Given the description of an element on the screen output the (x, y) to click on. 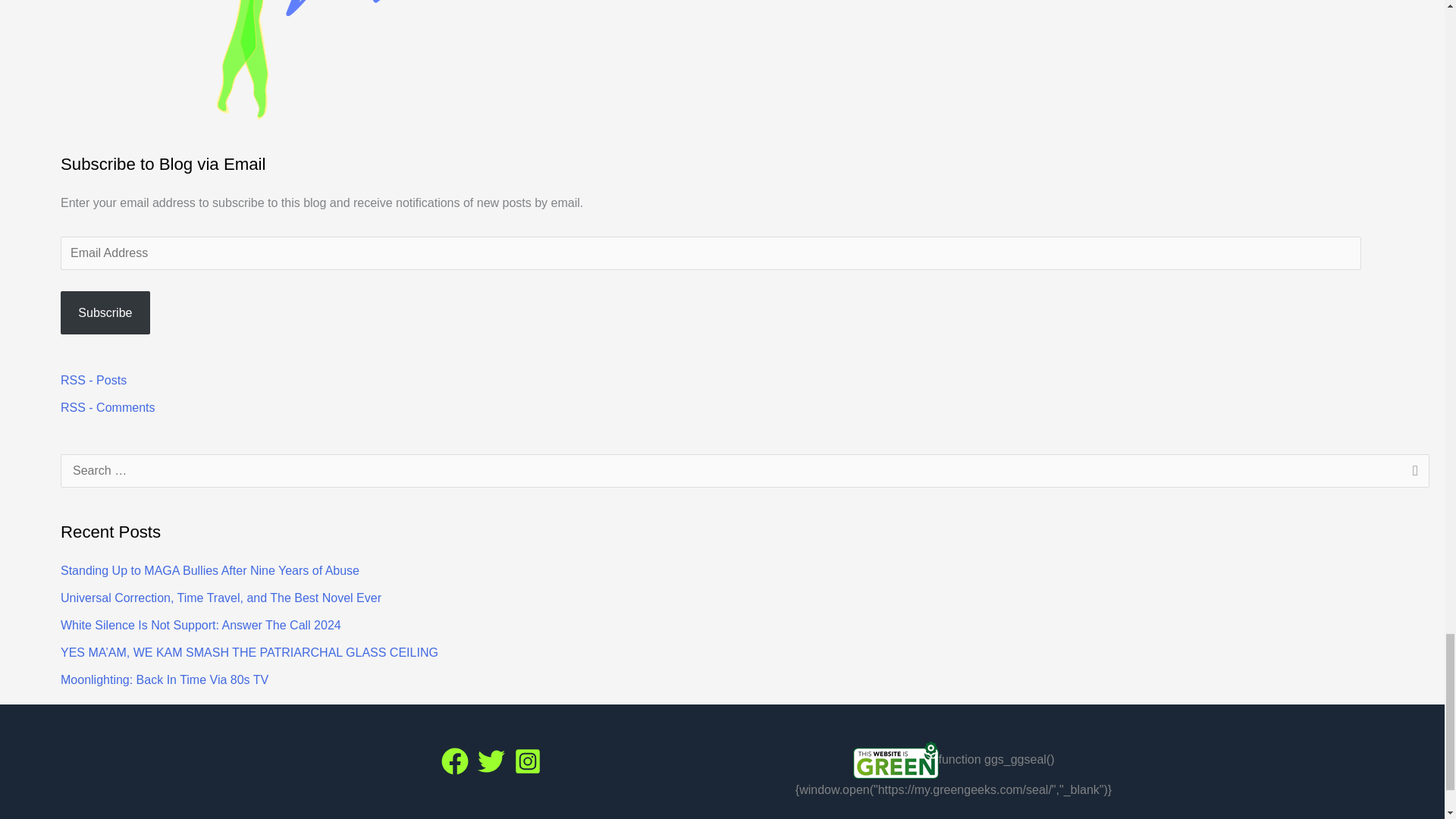
Subscribe to comments (107, 407)
RSS - Posts (93, 379)
Standing Up to MAGA Bullies After Nine Years of Abuse (210, 570)
RSS - Comments (107, 407)
Subscribe (105, 312)
Subscribe to posts (93, 379)
